Given the description of an element on the screen output the (x, y) to click on. 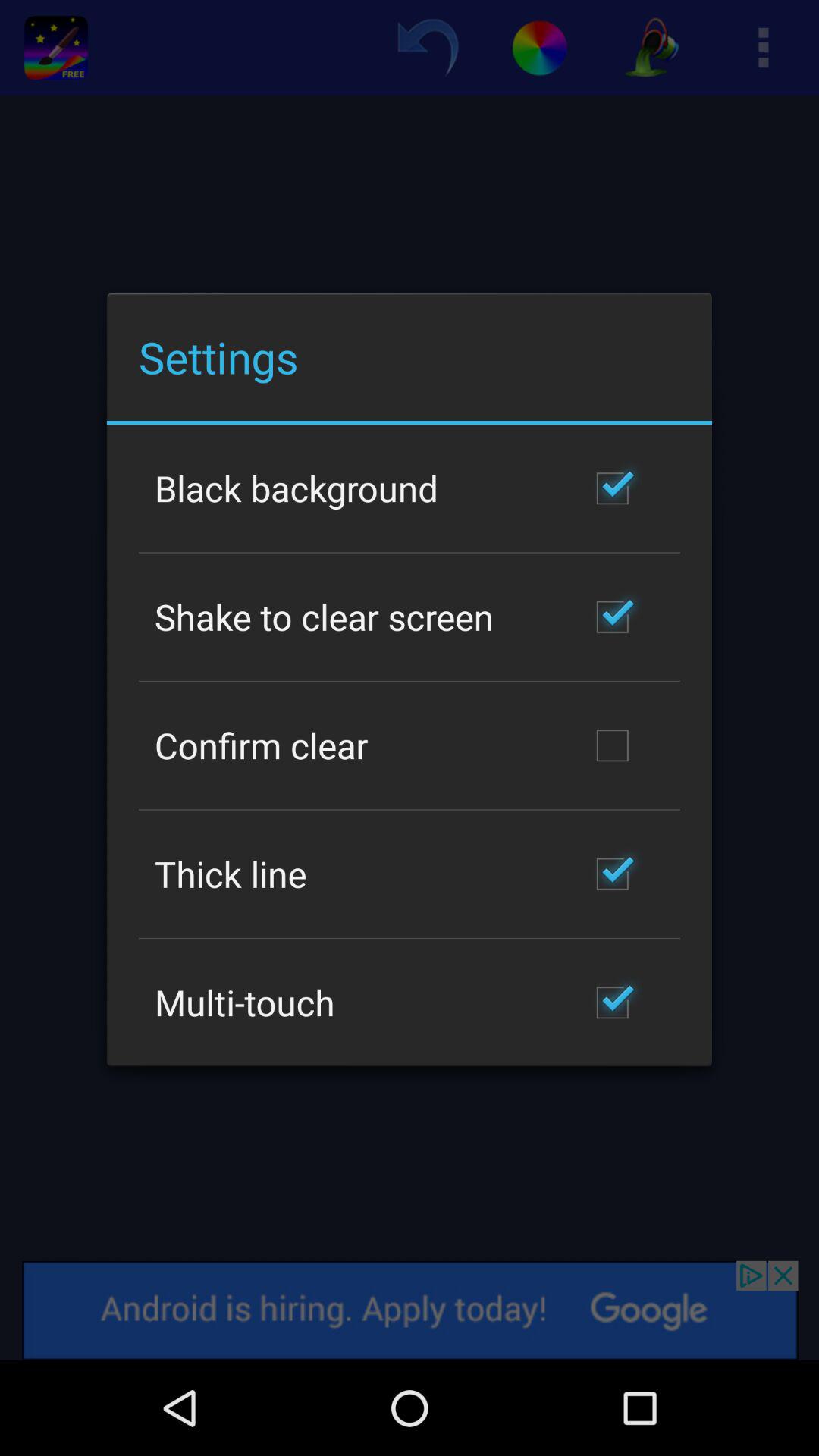
turn on the black background icon (296, 488)
